Given the description of an element on the screen output the (x, y) to click on. 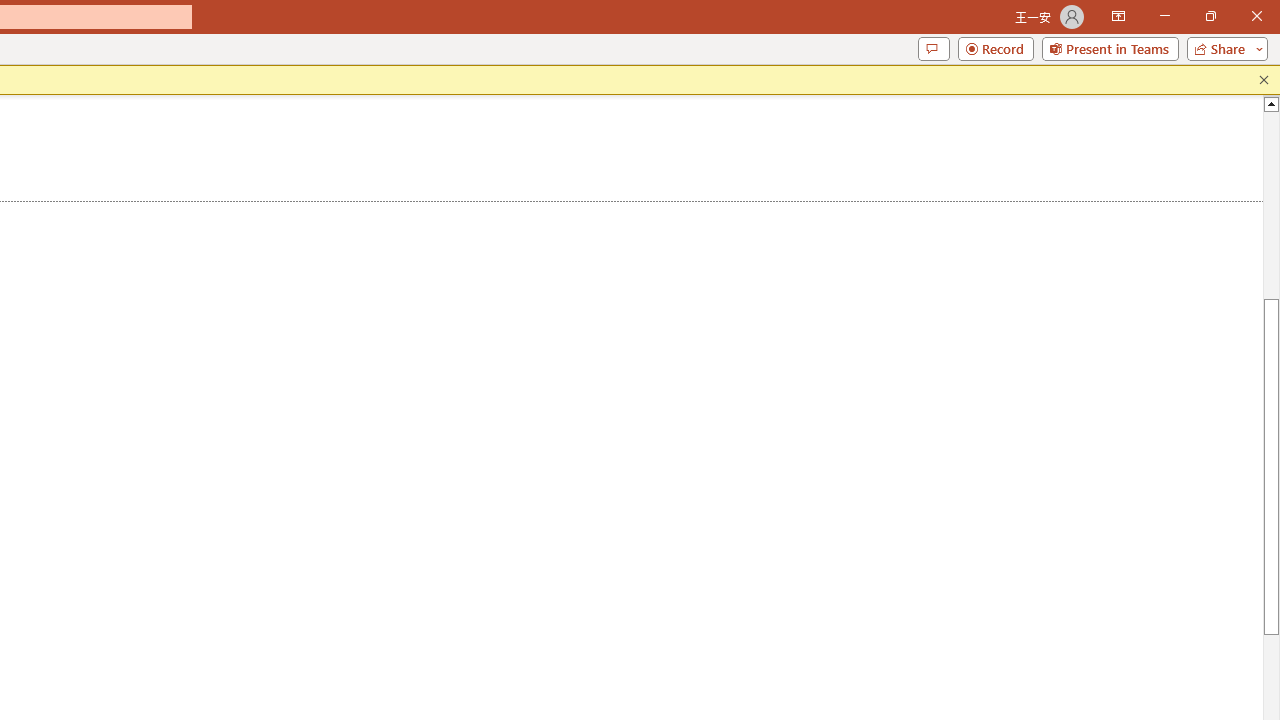
Close this message (1263, 80)
